Given the description of an element on the screen output the (x, y) to click on. 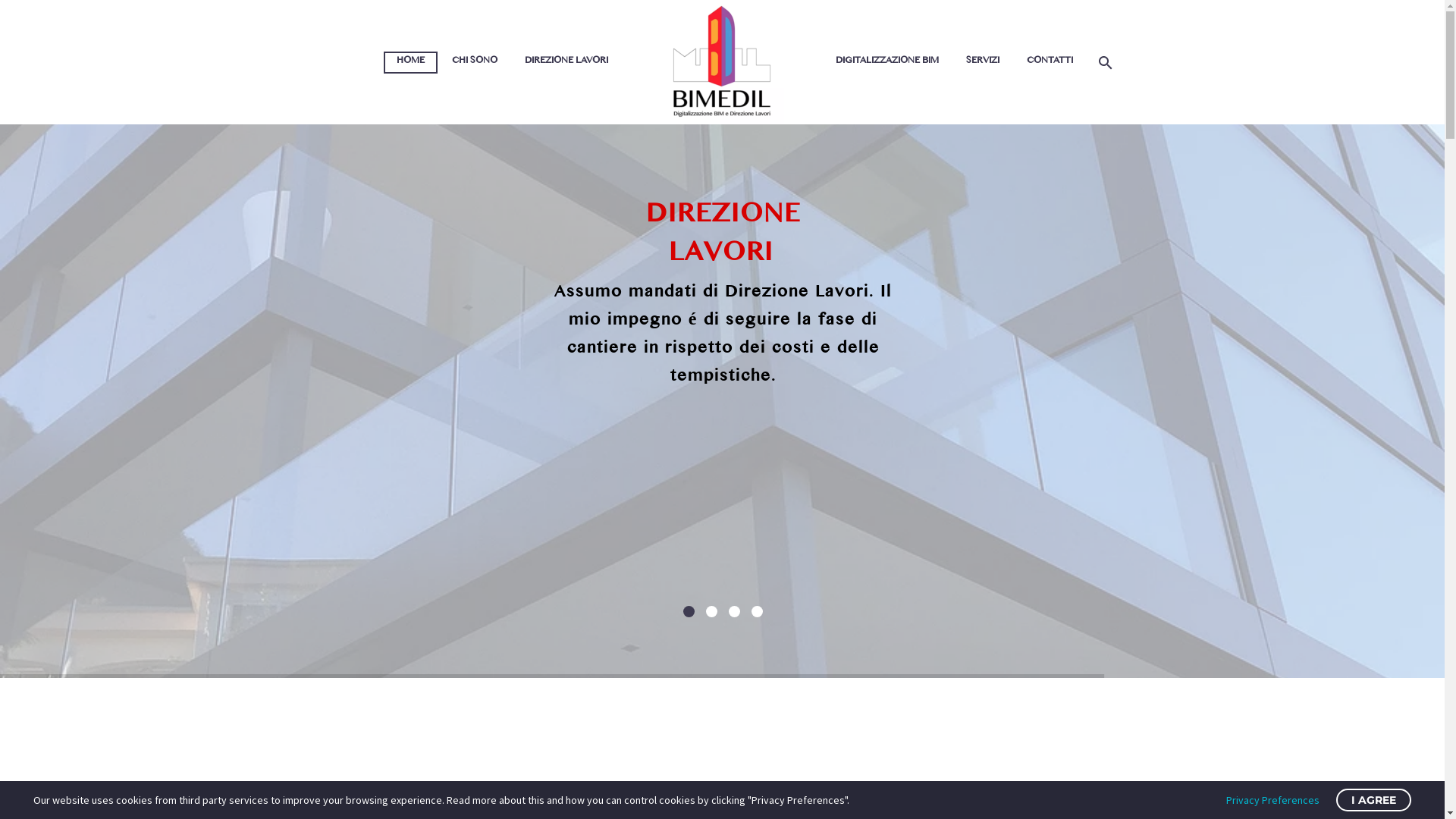
CHI SONO Element type: text (474, 62)
I AGREE Element type: text (1373, 799)
SERVIZI Element type: text (982, 62)
Privacy Preferences Element type: text (1272, 799)
HOME Element type: text (410, 62)
CONTATTI Element type: text (1049, 62)
DIREZIONE LAVORI Element type: text (566, 62)
DIGITALIZZAZIONE BIM Element type: text (887, 62)
